Given the description of an element on the screen output the (x, y) to click on. 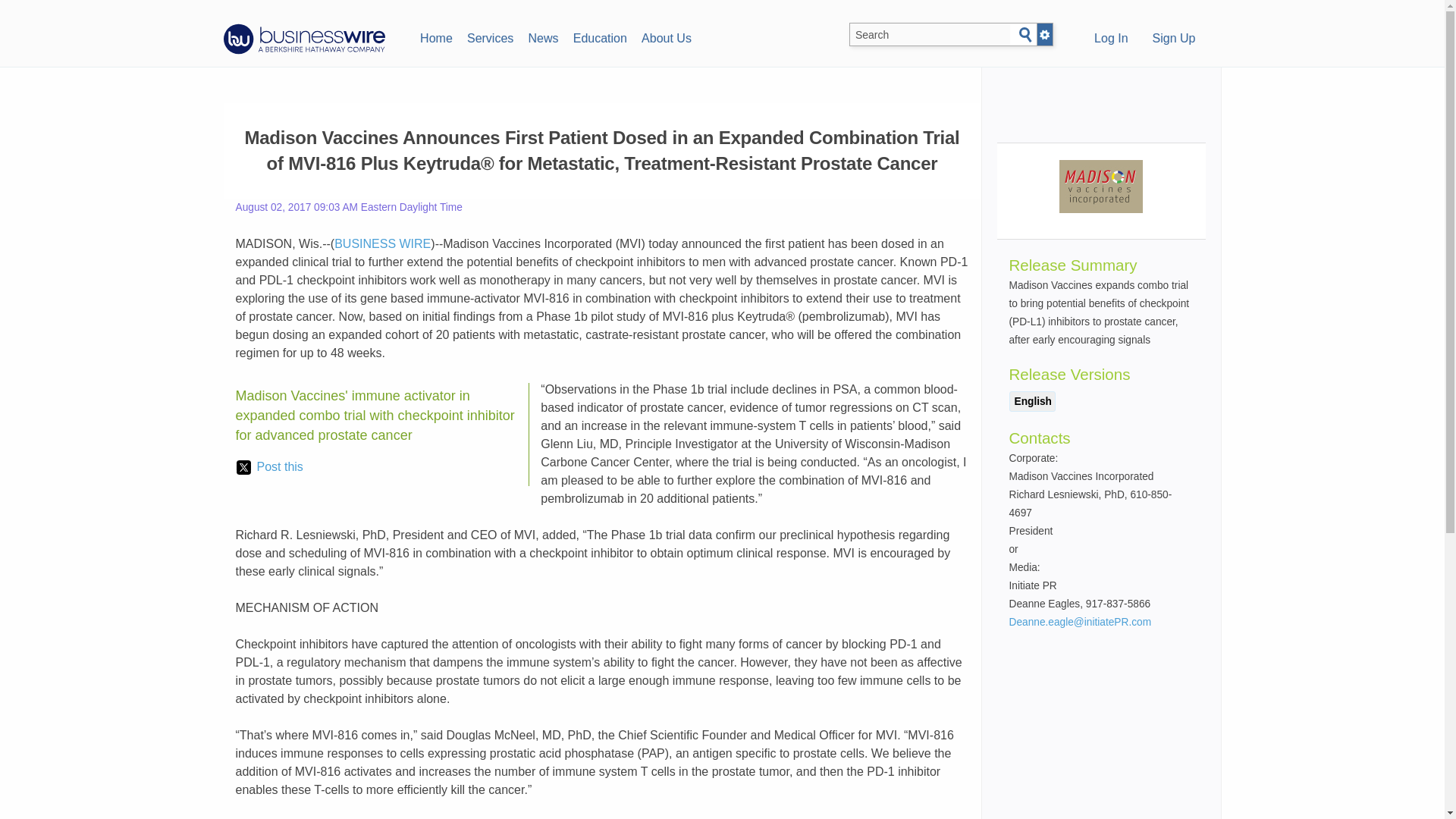
Home (436, 36)
News (543, 36)
Education (599, 36)
Log In (1110, 39)
Search (1025, 34)
Services (490, 36)
Sign Up (1174, 39)
BUSINESS WIRE (382, 243)
Search BusinessWire.com (930, 34)
Post this (269, 466)
About Us (665, 36)
